Given the description of an element on the screen output the (x, y) to click on. 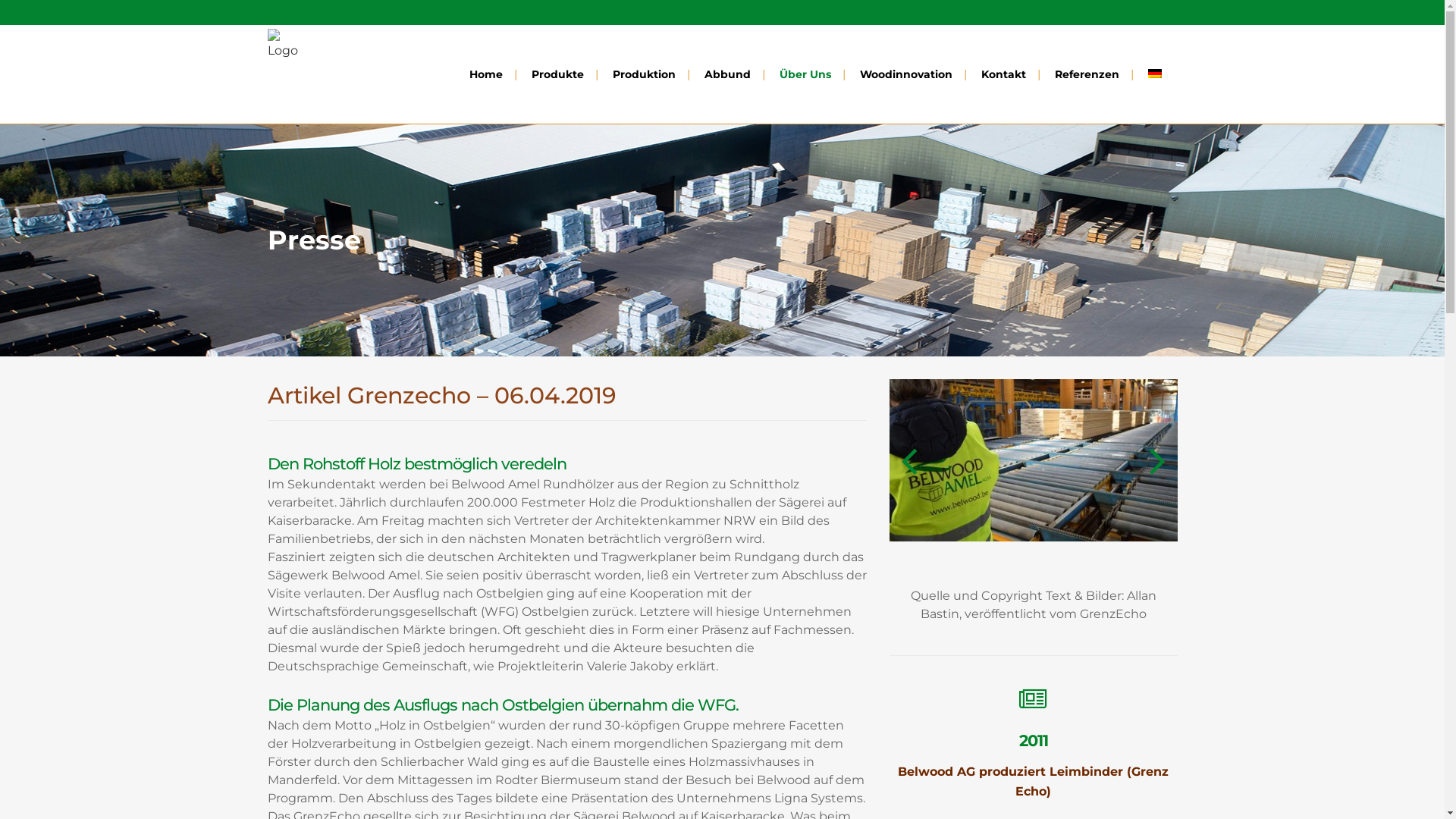
Kontakt Element type: text (1002, 74)
d-20190405-3T707X Element type: hover (1032, 460)
Produktion Element type: text (643, 74)
Woodinnovation Element type: text (905, 74)
Home Element type: text (485, 74)
Belwood AG produziert Leimbinder (Grenz Echo) Element type: text (1032, 781)
Produkte Element type: text (557, 74)
Referenzen Element type: text (1086, 74)
Abbund Element type: text (727, 74)
